Given the description of an element on the screen output the (x, y) to click on. 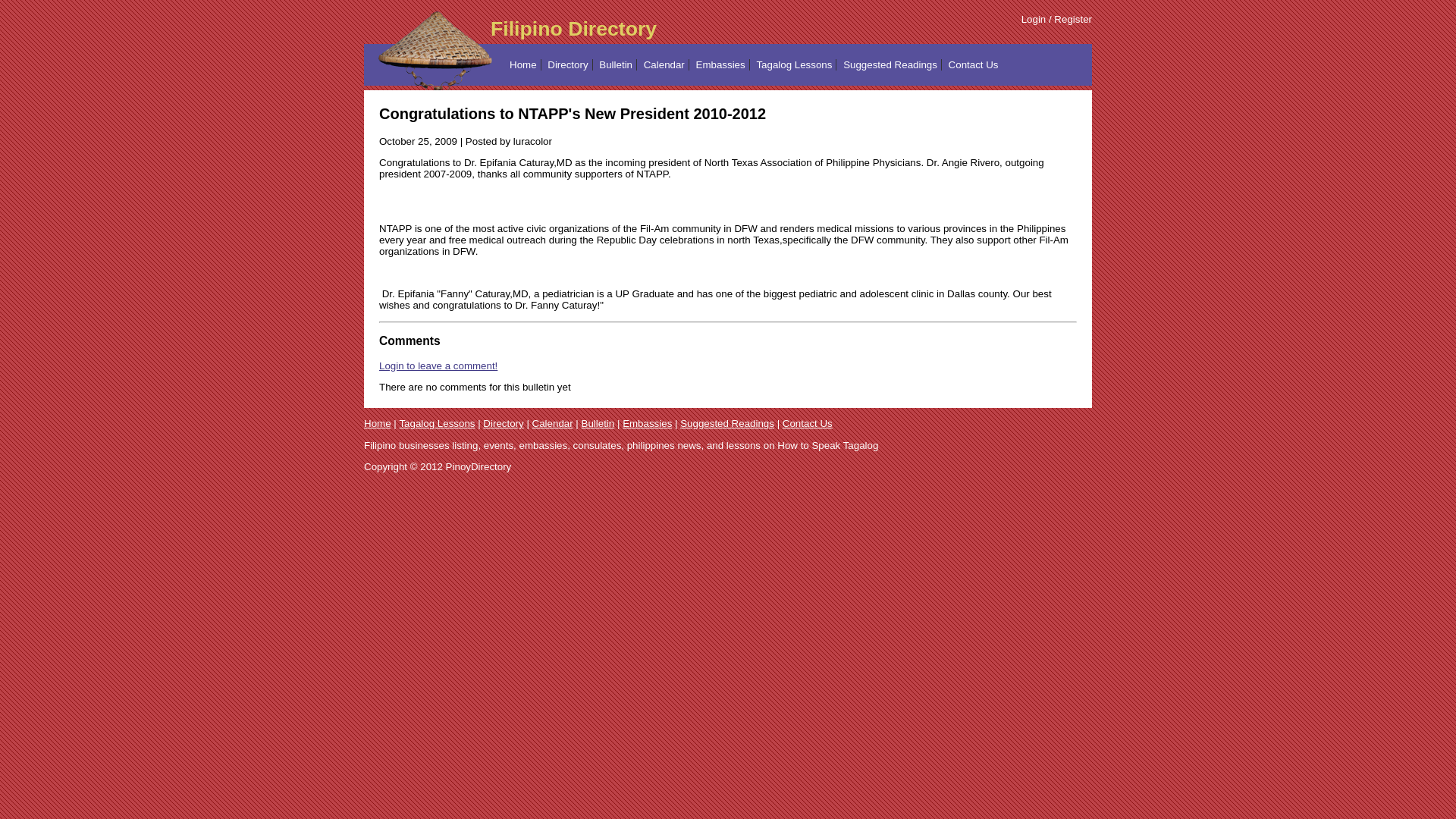
Home (377, 423)
Tagalog Lessons (793, 64)
Contact Us (973, 64)
Contact Us (807, 423)
Suggested Readings (726, 423)
Embassies (647, 423)
Calendar (552, 423)
Tagalog Lessons (436, 423)
Bulletin (597, 423)
Home (523, 64)
Directory (502, 423)
Embassies (720, 64)
Suggested Readings (890, 64)
Login to leave a comment! (437, 365)
Directory (567, 64)
